Given the description of an element on the screen output the (x, y) to click on. 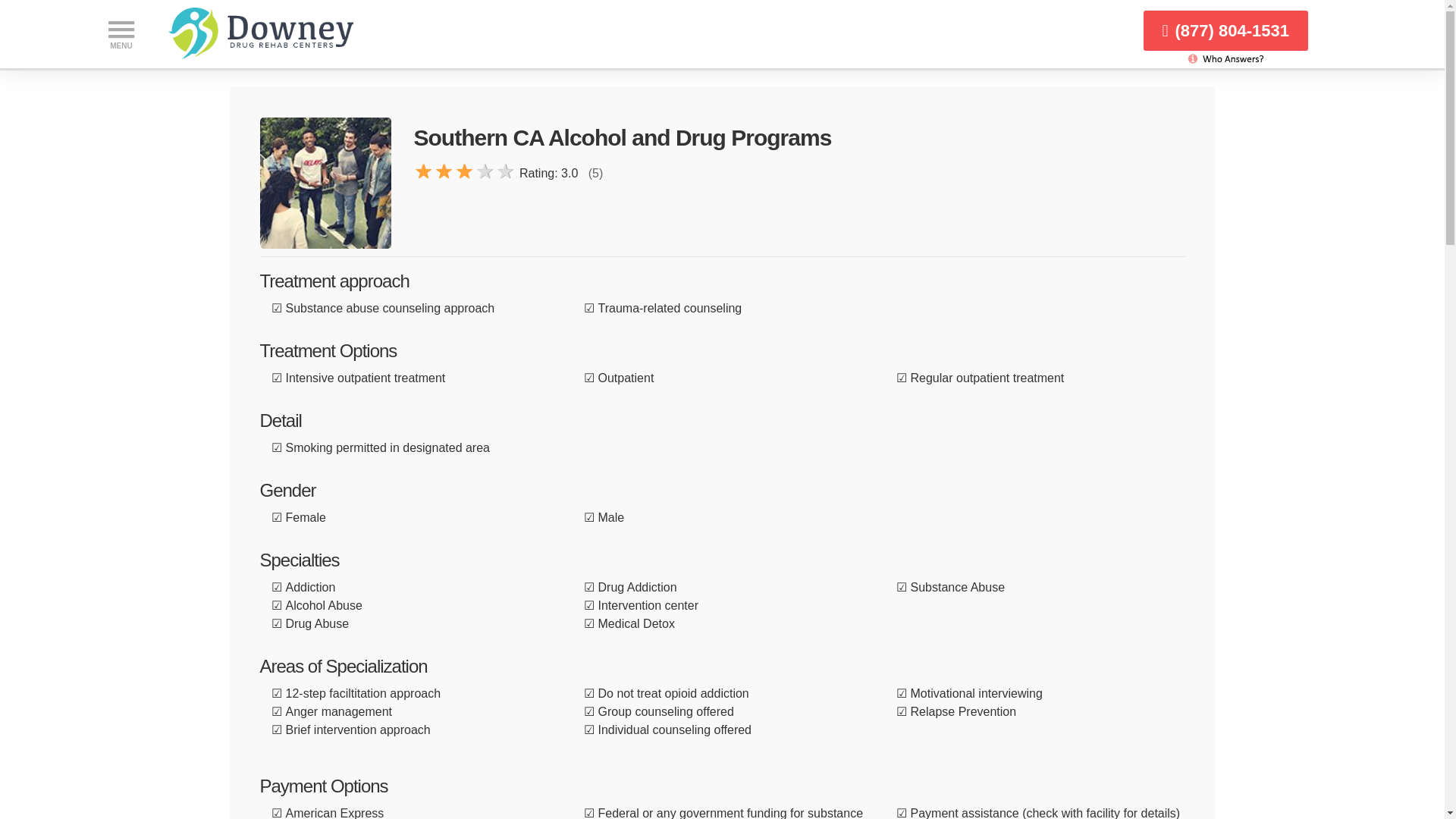
Southern CA Alcohol and Drug Programs (324, 182)
